Given the description of an element on the screen output the (x, y) to click on. 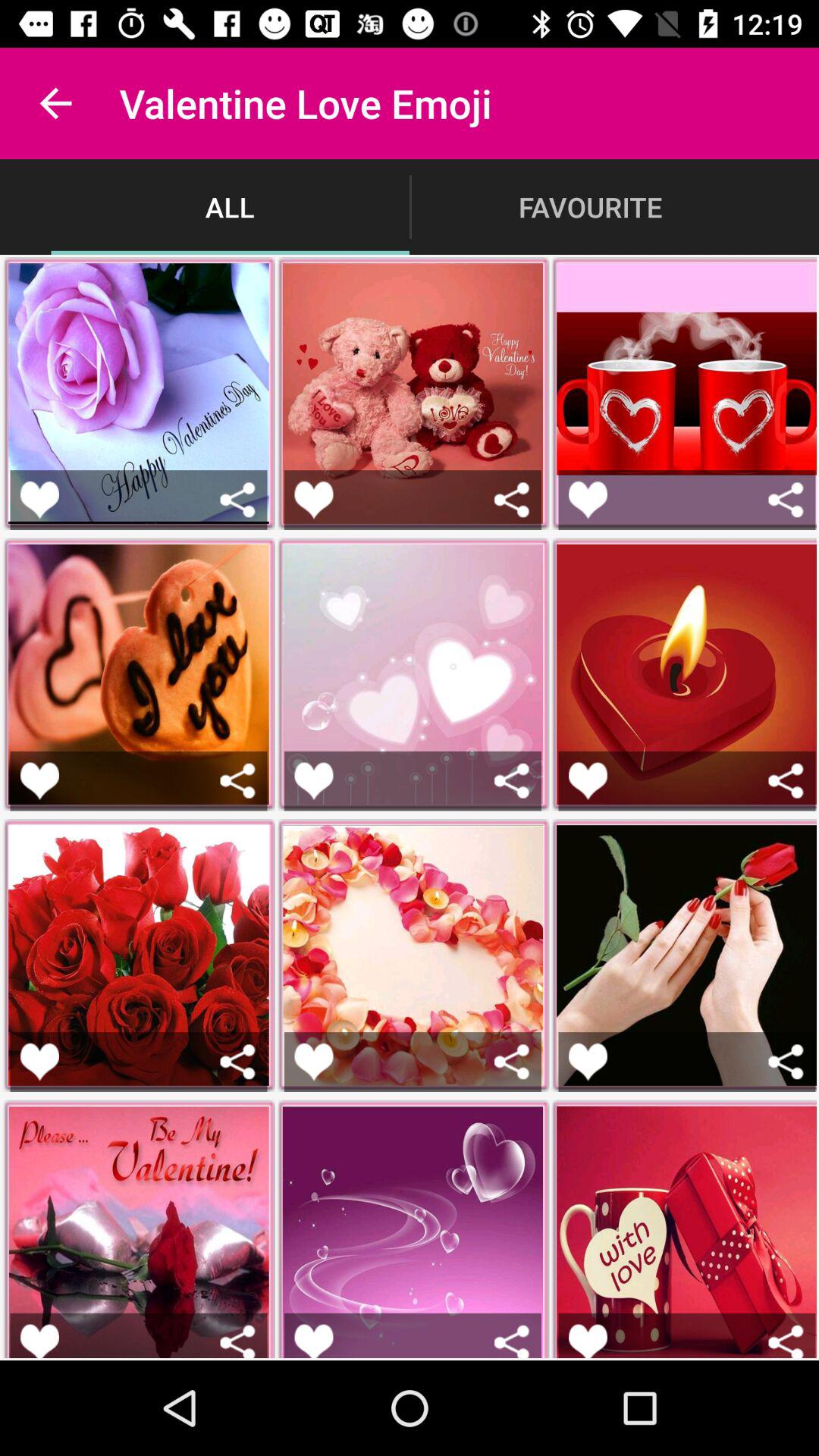
turn off icon next to the valentine love emoji app (55, 103)
